Given the description of an element on the screen output the (x, y) to click on. 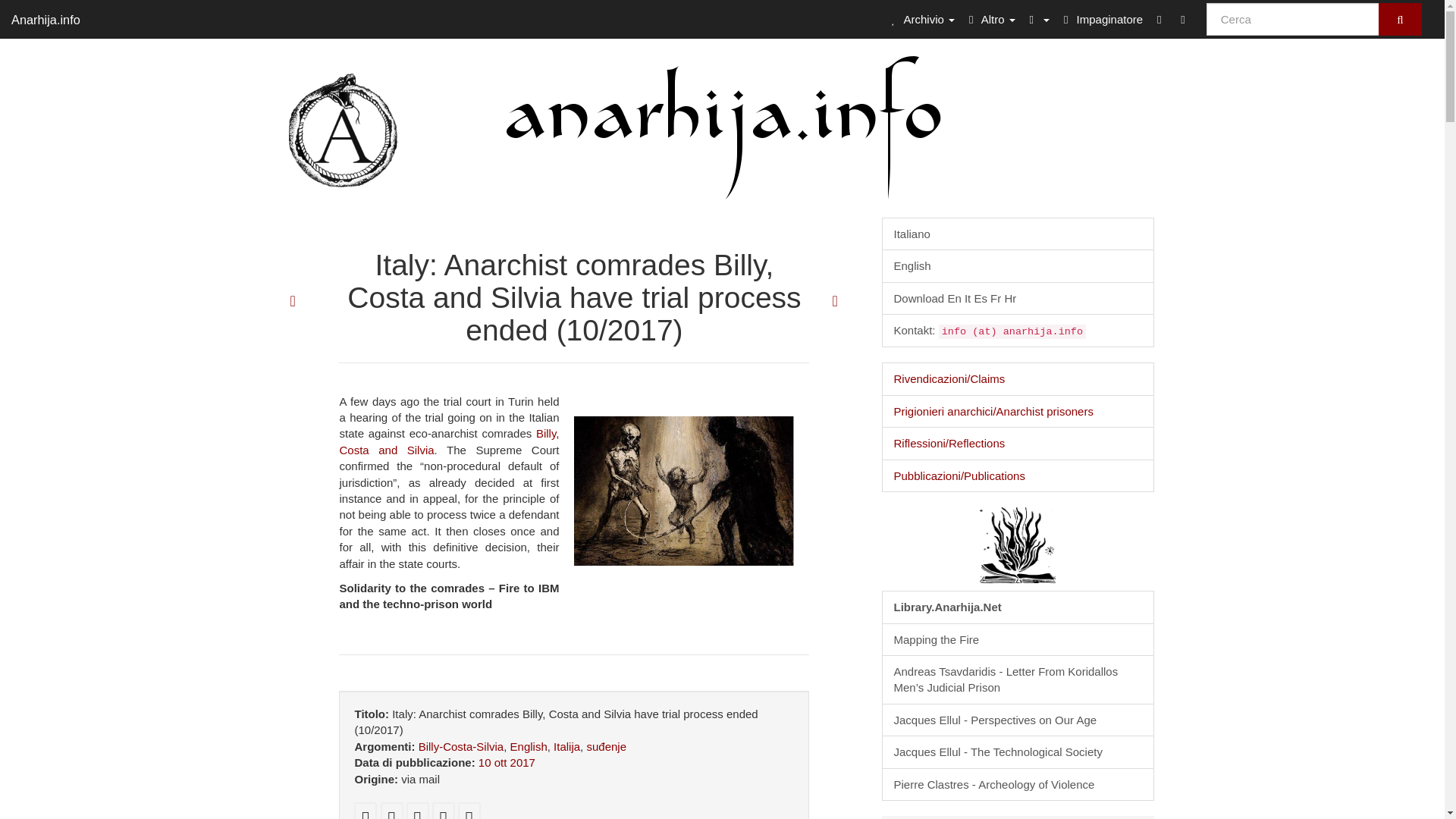
Cerca (1400, 19)
Selezione lingua (1037, 18)
Pagina casuale (1181, 18)
informazioni, link... (989, 18)
Anarhija.info (45, 18)
Impaginatore (1100, 18)
Seleziona singole parti per l'impaginatore (469, 817)
English (1017, 265)
10 ott 2017 (507, 762)
Italiano (1017, 233)
Billy-Costa-Silvia (461, 746)
sorgente in testo semplice (391, 817)
Billy, Costa and Silvia (449, 440)
Aggiungi questo testo all'impaginatore (443, 817)
Feed RSS (1158, 18)
